Given the description of an element on the screen output the (x, y) to click on. 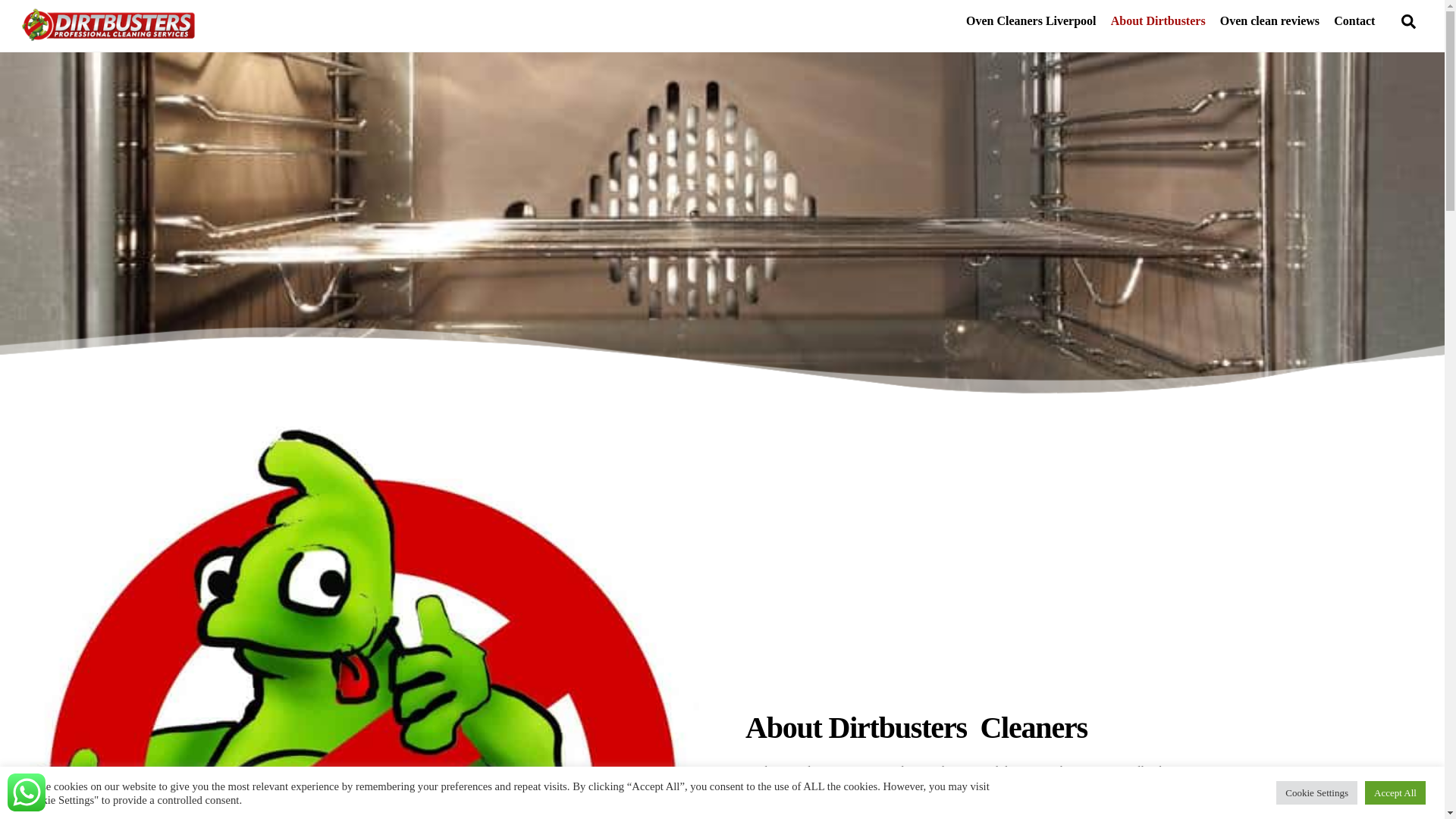
Oven clean reviews (1269, 21)
Search (1408, 20)
Oven Cleaners Liverpool (1030, 21)
About Dirtbusters (1157, 21)
Dirbusters logo (108, 24)
Contact (1353, 21)
Dirtbusters Cleaners (108, 34)
